Given the description of an element on the screen output the (x, y) to click on. 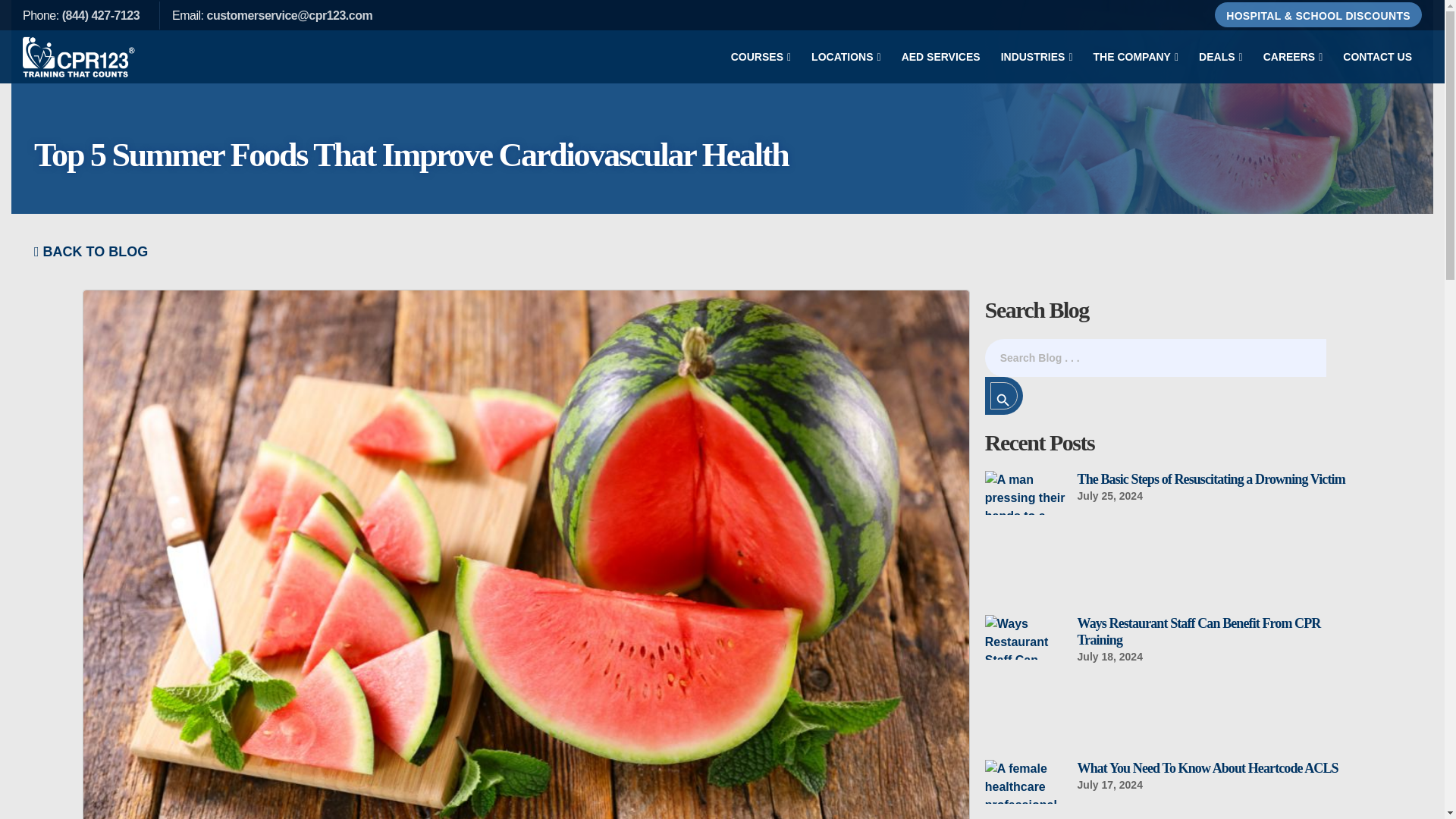
AED SERVICES (940, 56)
CPR123, Inc. - CPR, ACLS, Pals Certification Training (79, 56)
LOCATIONS (846, 56)
INDUSTRIES (1037, 56)
COURSES (760, 56)
THE COMPANY (1136, 56)
